Given the description of an element on the screen output the (x, y) to click on. 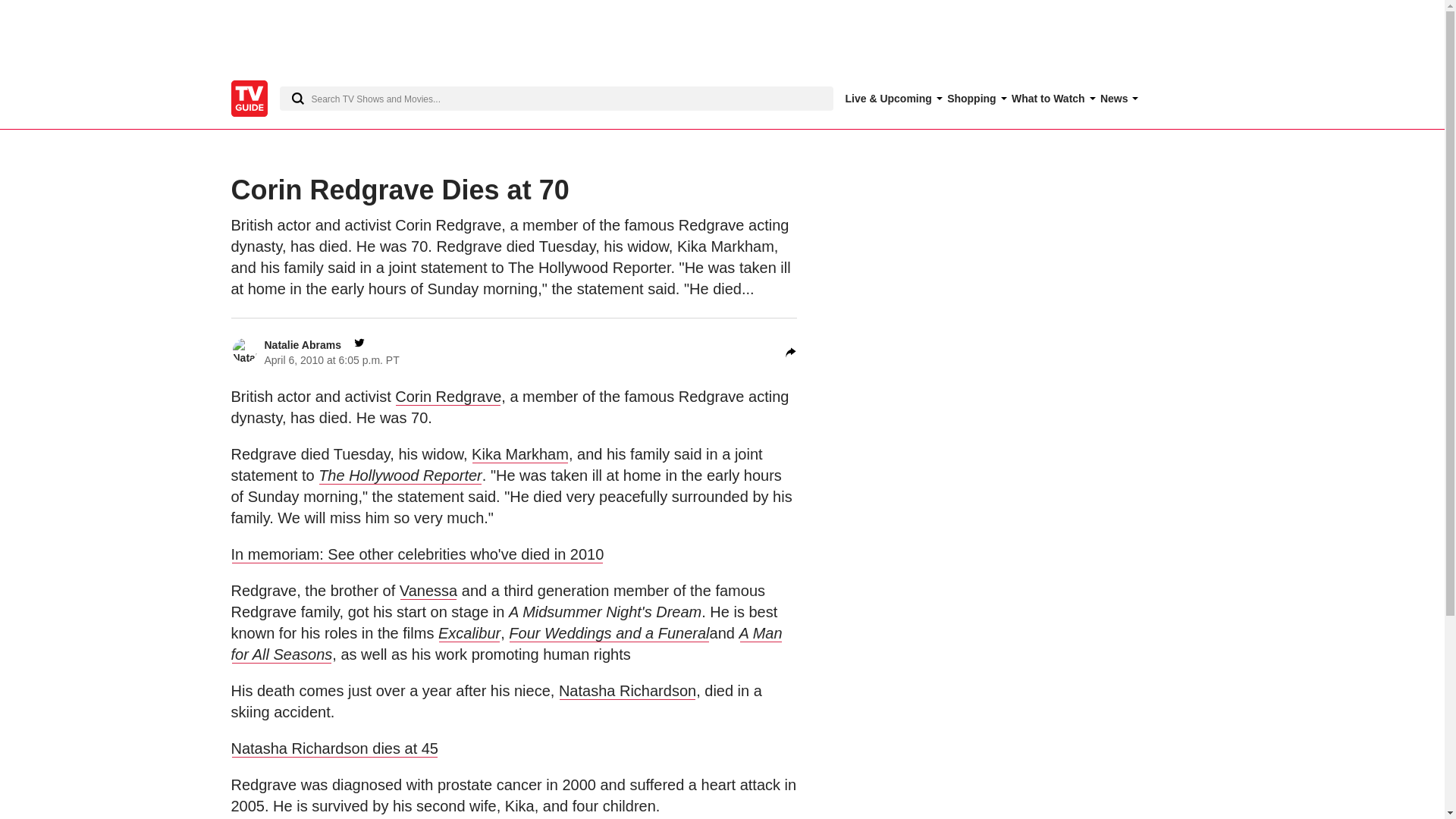
Shopping (975, 98)
What to Watch (1050, 98)
News (1117, 98)
